Given the description of an element on the screen output the (x, y) to click on. 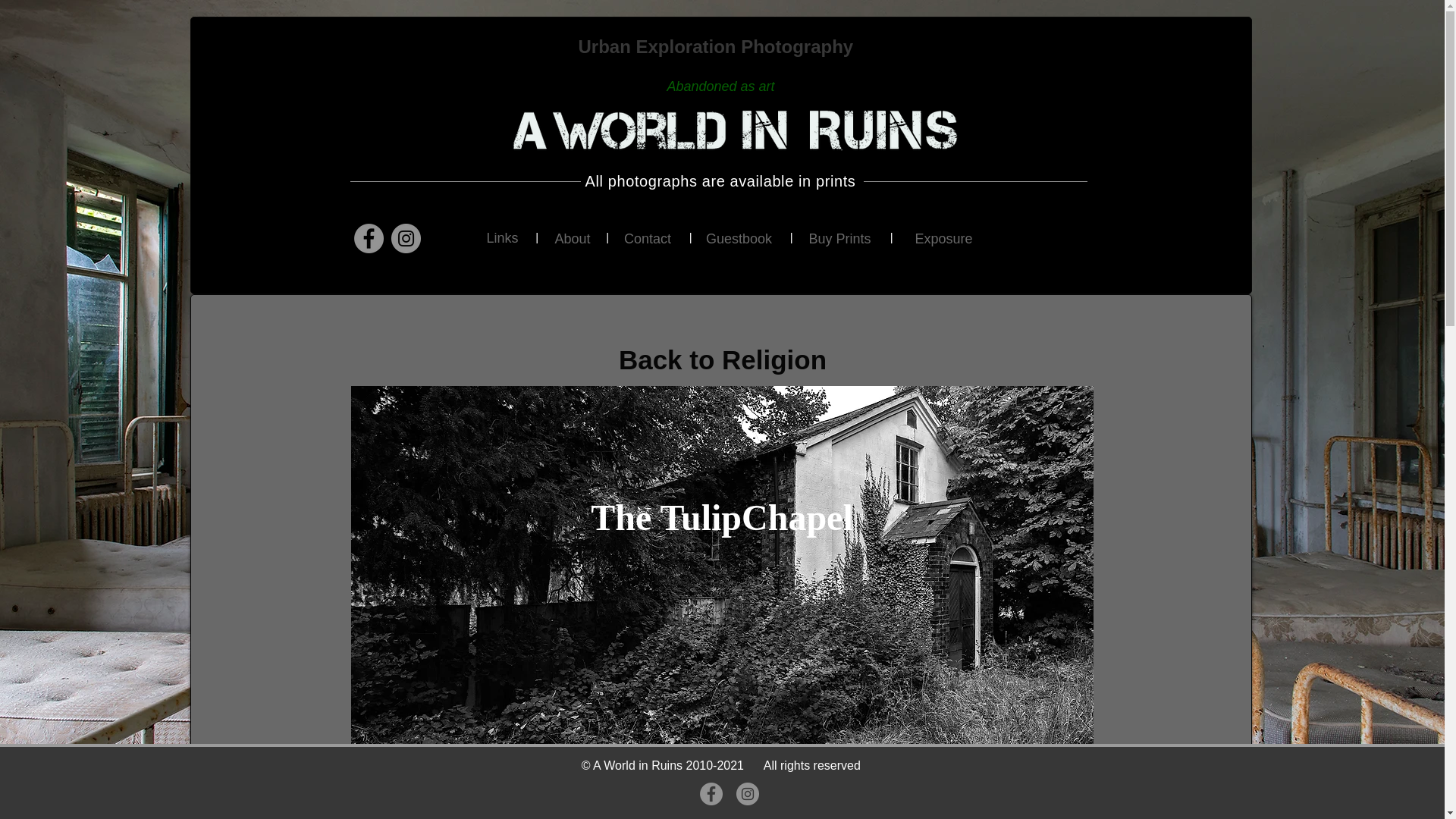
Exposure (943, 239)
About (572, 238)
Guestbook (738, 238)
Contact (647, 238)
Buy Prints (840, 239)
Urban Exploration Photography (717, 46)
Back to Religion (722, 359)
Links (501, 238)
